Given the description of an element on the screen output the (x, y) to click on. 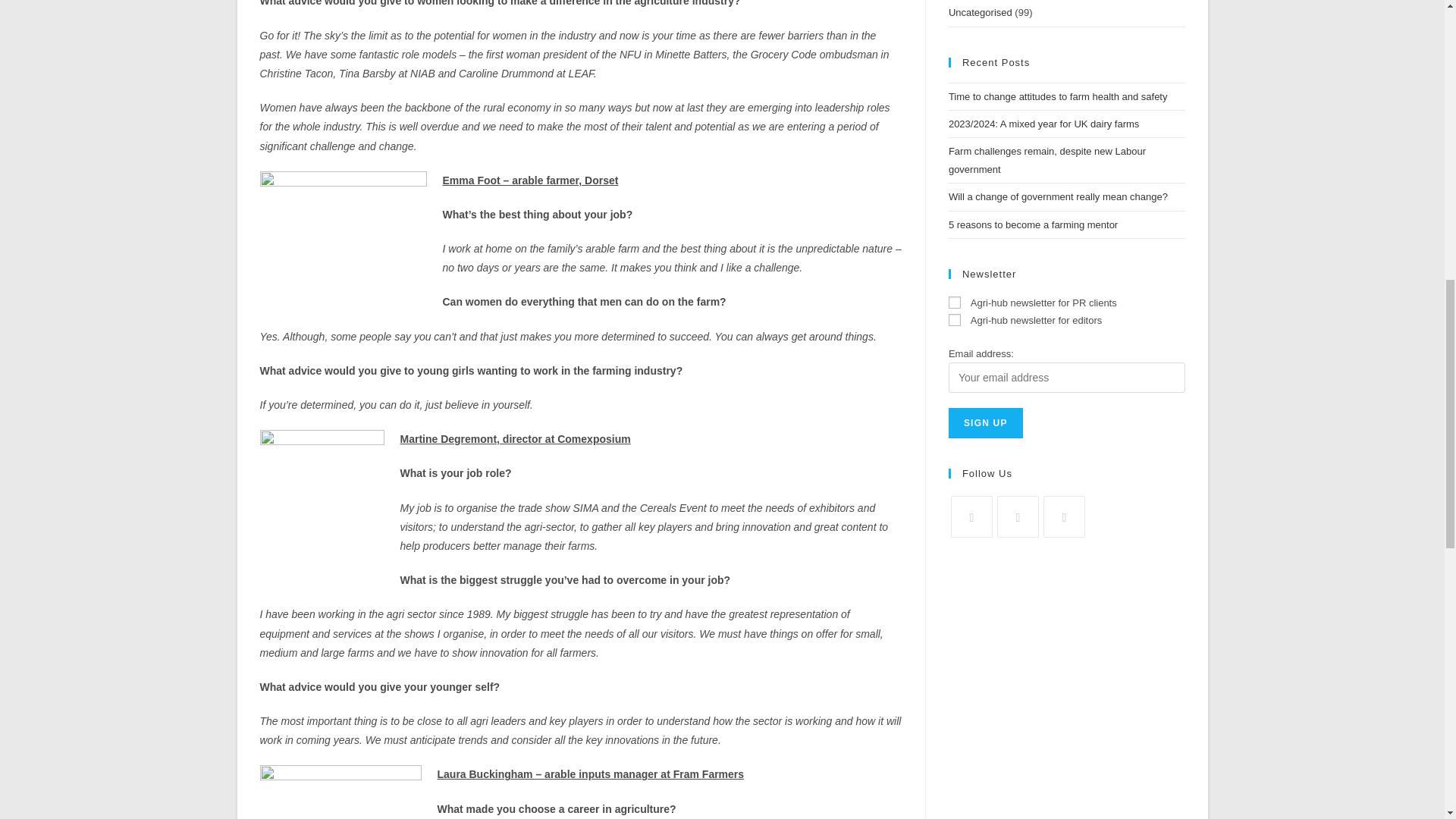
2a5121b343 (954, 319)
Sign up (986, 422)
e2fcf9ae63 (954, 302)
